Given the description of an element on the screen output the (x, y) to click on. 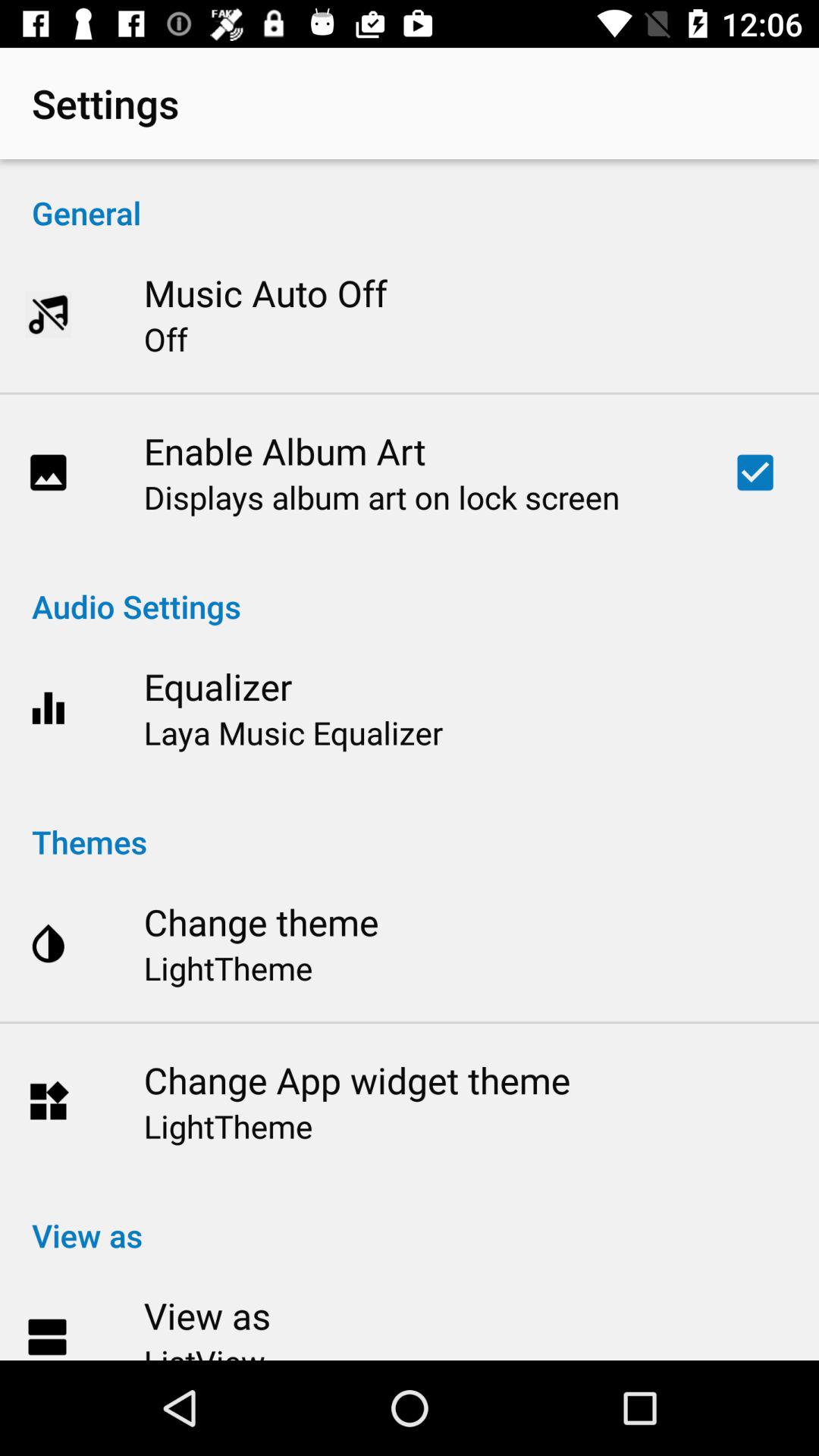
launch the themes icon (409, 825)
